Given the description of an element on the screen output the (x, y) to click on. 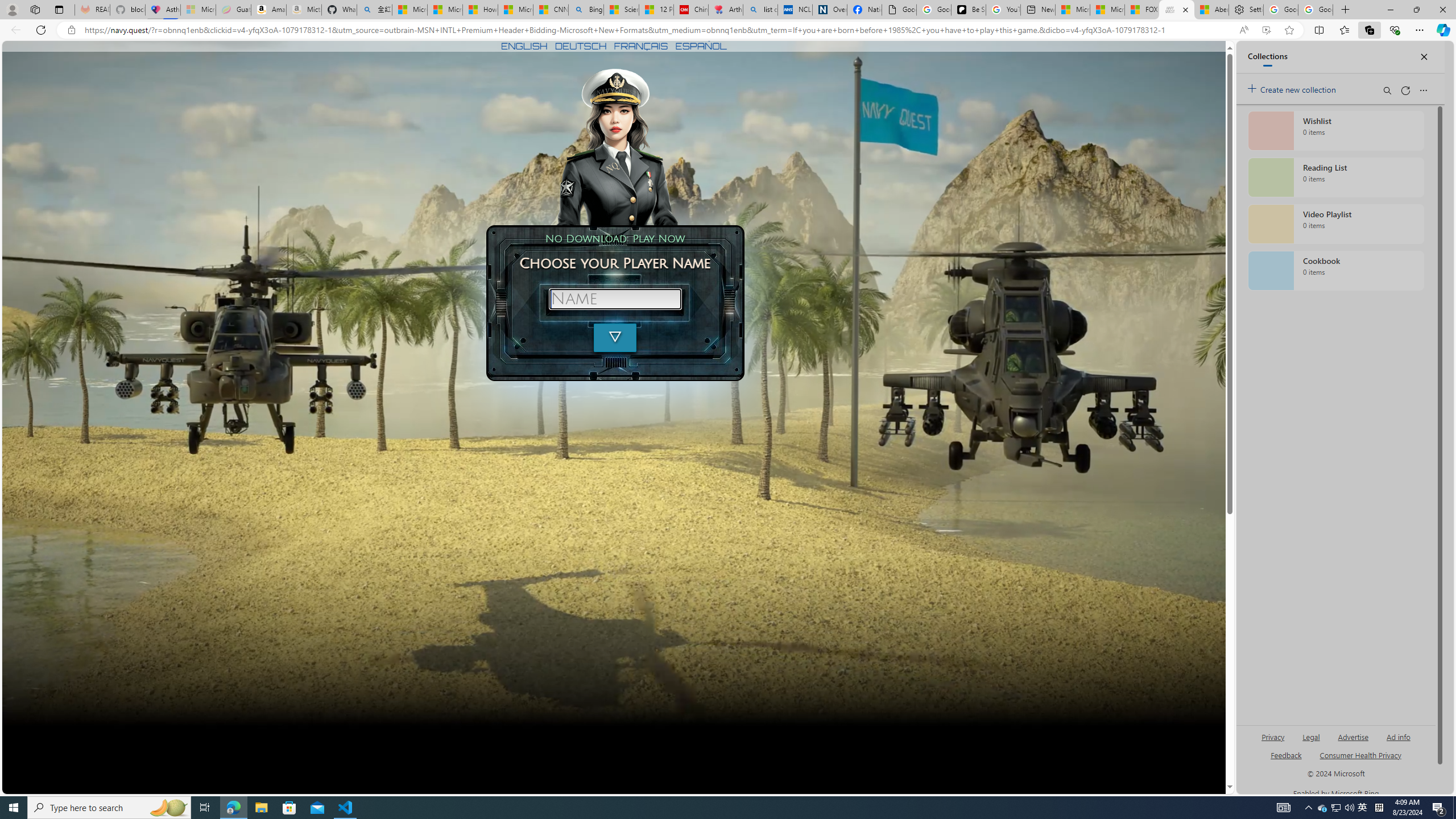
AutomationID: sb_feedback (1286, 754)
ENGLISH (523, 45)
Name (614, 298)
